Given the description of an element on the screen output the (x, y) to click on. 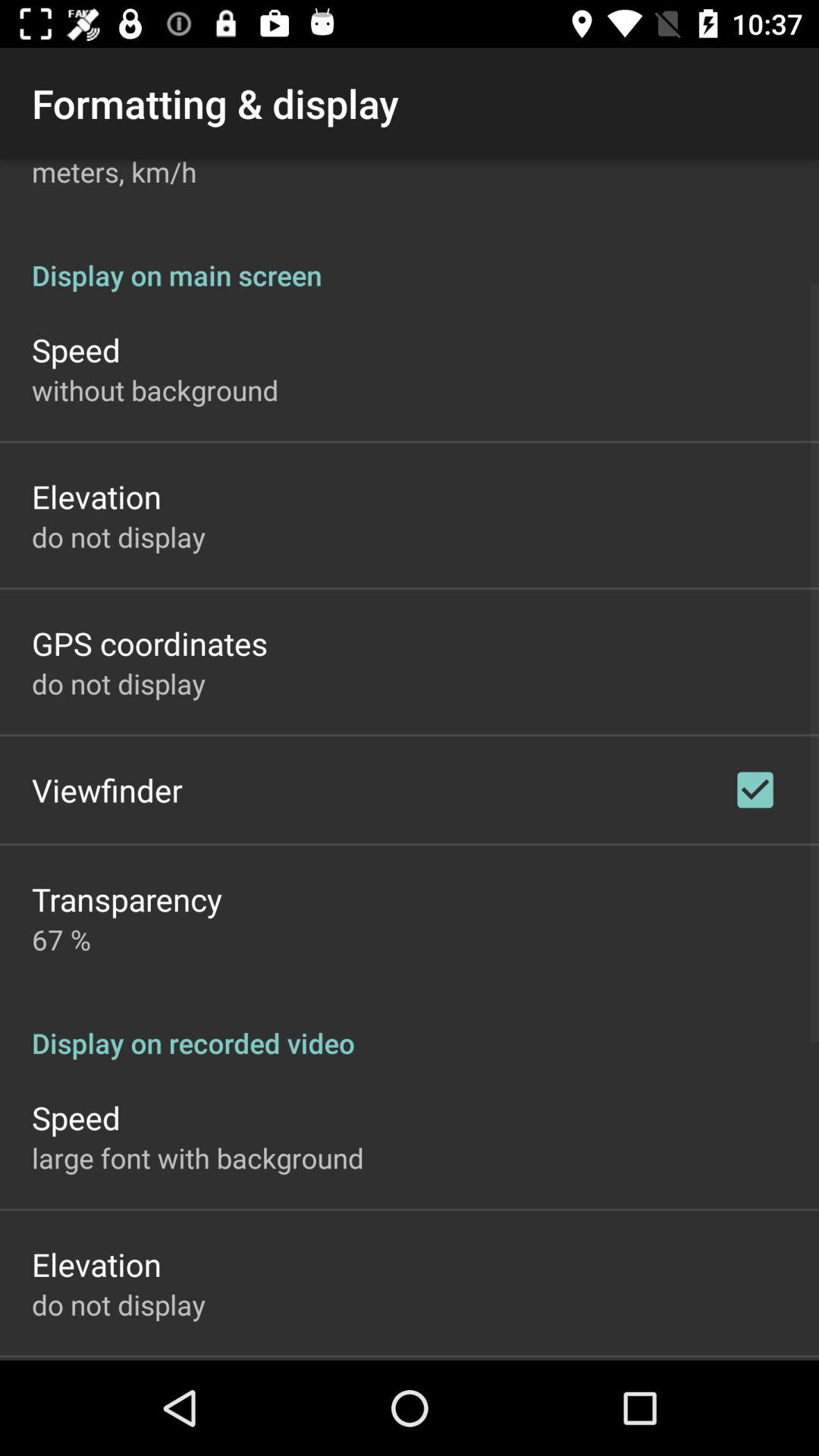
click app to the right of the viewfinder (755, 789)
